Given the description of an element on the screen output the (x, y) to click on. 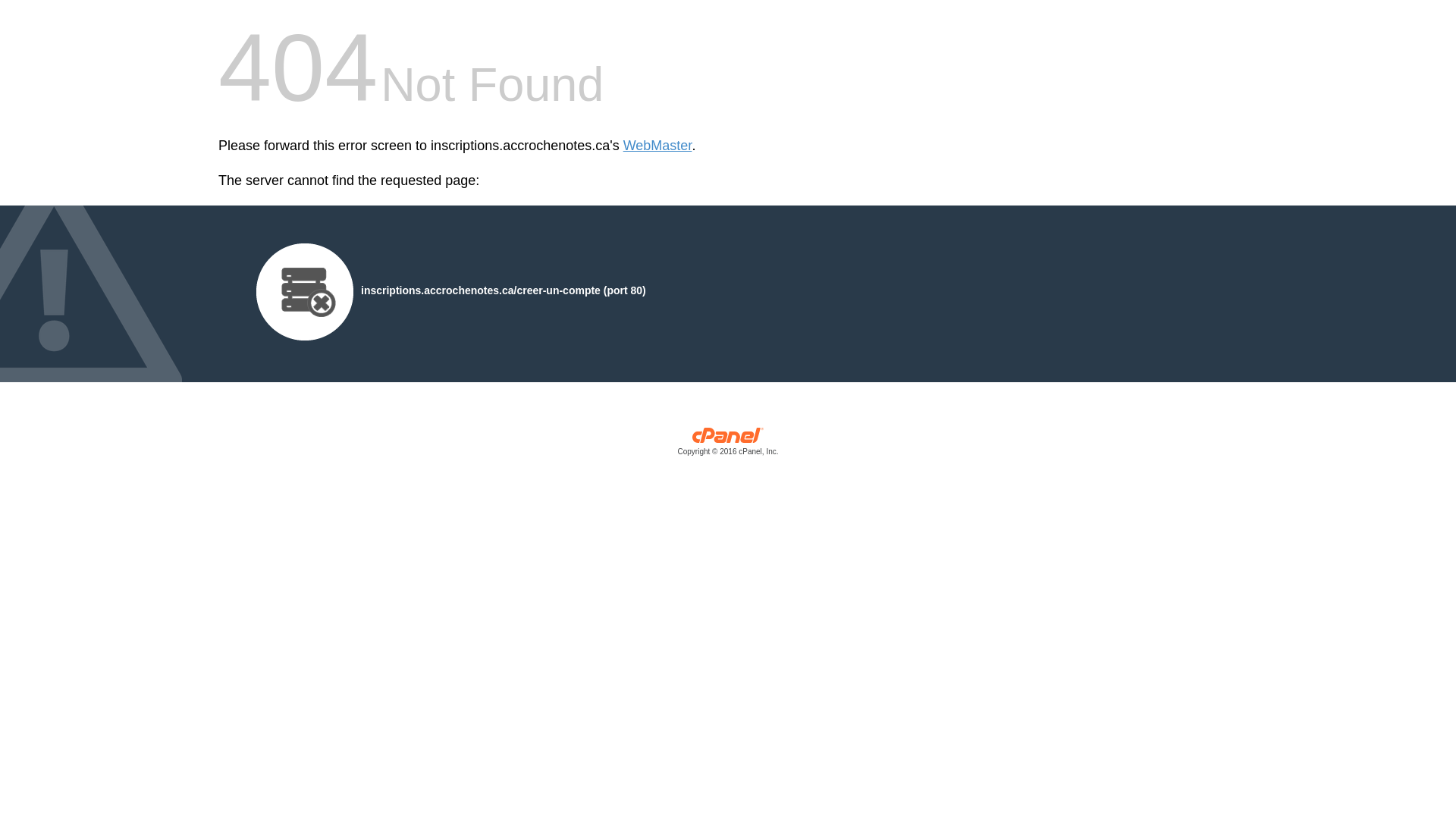
WebMaster Element type: text (657, 145)
